Given the description of an element on the screen output the (x, y) to click on. 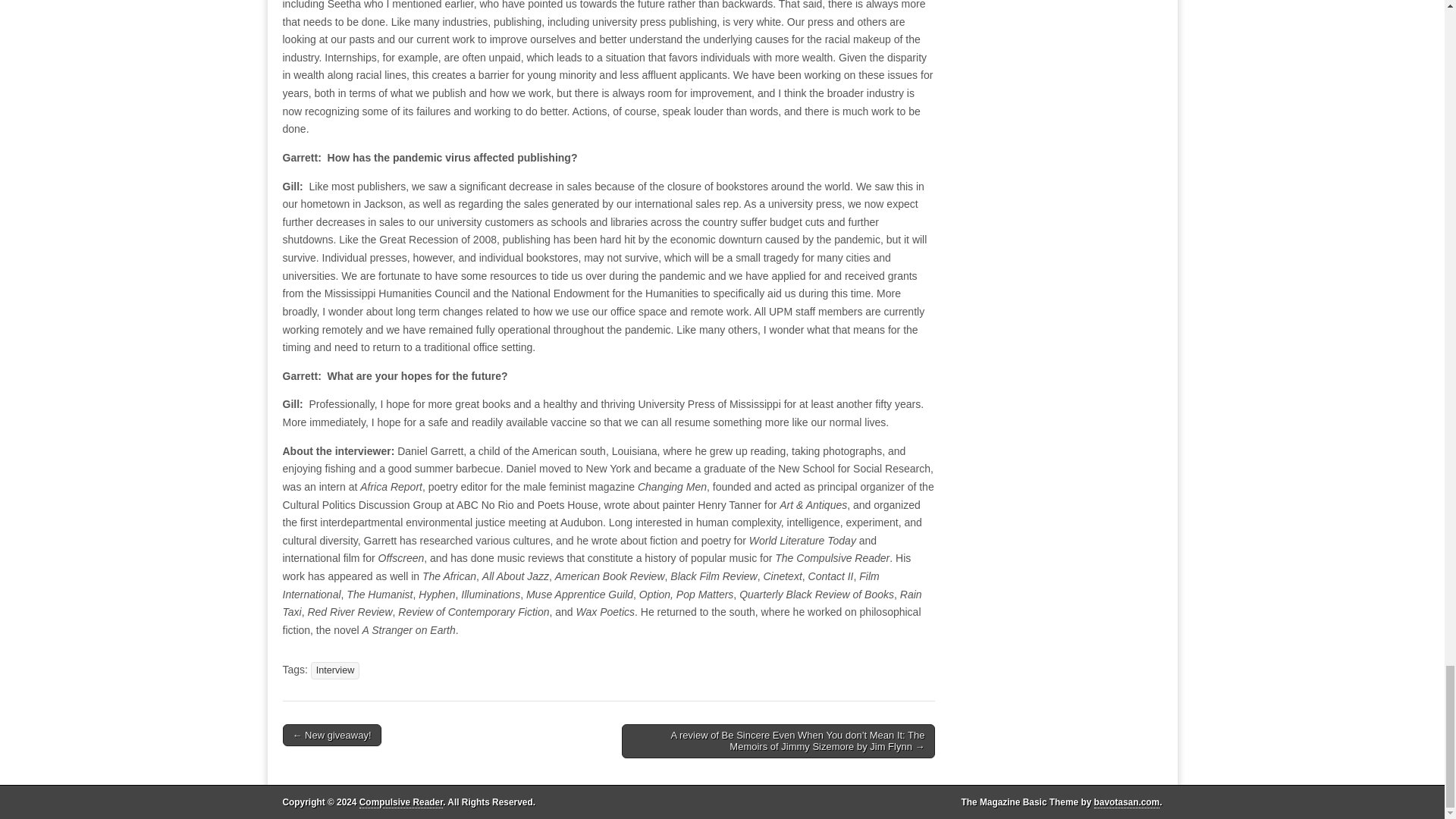
Interview (335, 670)
